Given the description of an element on the screen output the (x, y) to click on. 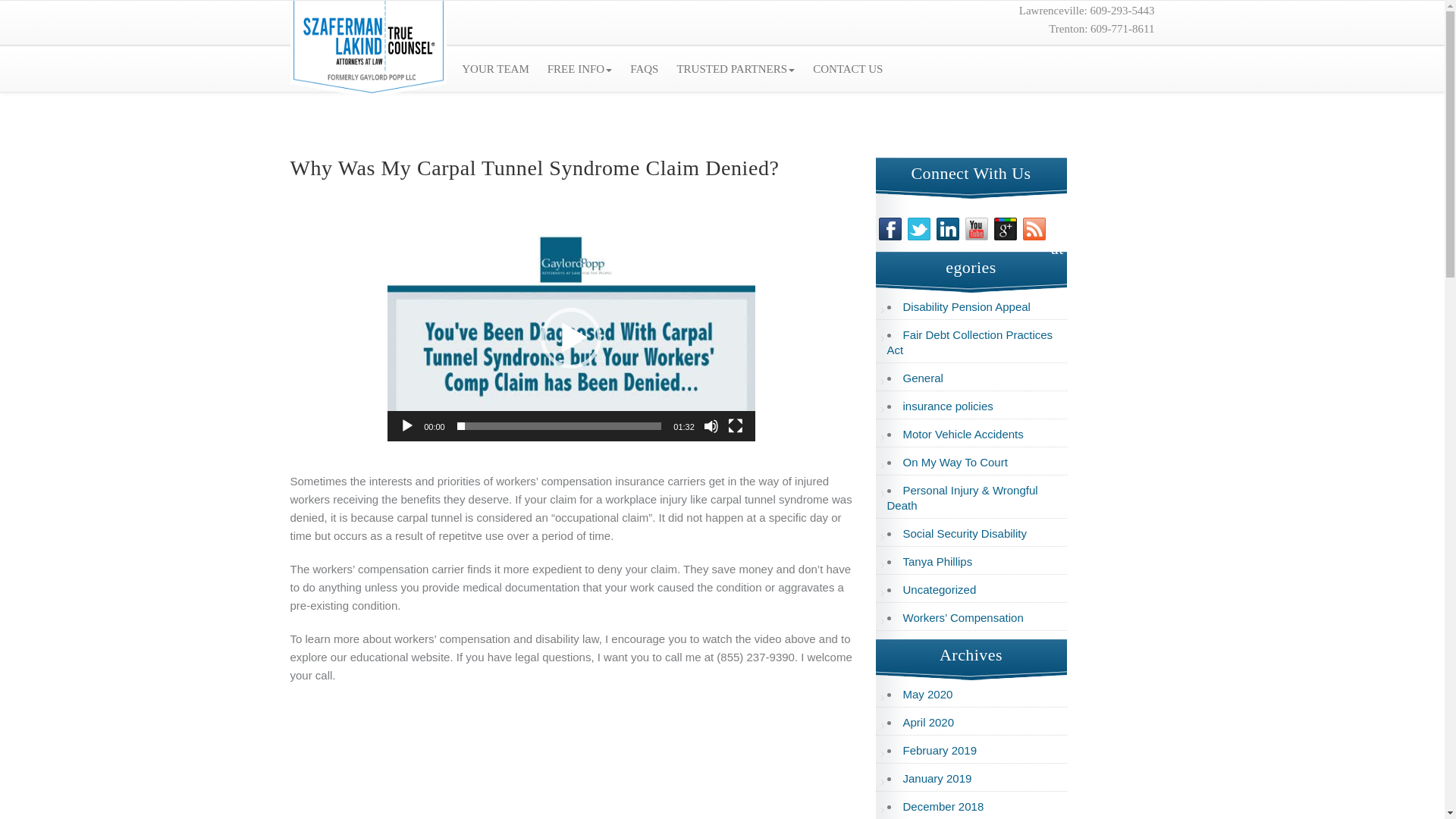
insurance policies (947, 405)
Fair Debt Collection Practices Act (969, 342)
Disability Pension Appeal (965, 306)
General (922, 377)
Fullscreen (735, 426)
Mute (711, 426)
FREE INFO (579, 68)
YOUR TEAM (494, 68)
Motor Vehicle Accidents (962, 433)
Trenton: 609-771-8611 (1101, 28)
FAQS (643, 68)
Play (406, 426)
PRACTICE AREAS (392, 68)
Lawrenceville: 609-293-5443 (1086, 10)
CONTACT US (847, 68)
